Given the description of an element on the screen output the (x, y) to click on. 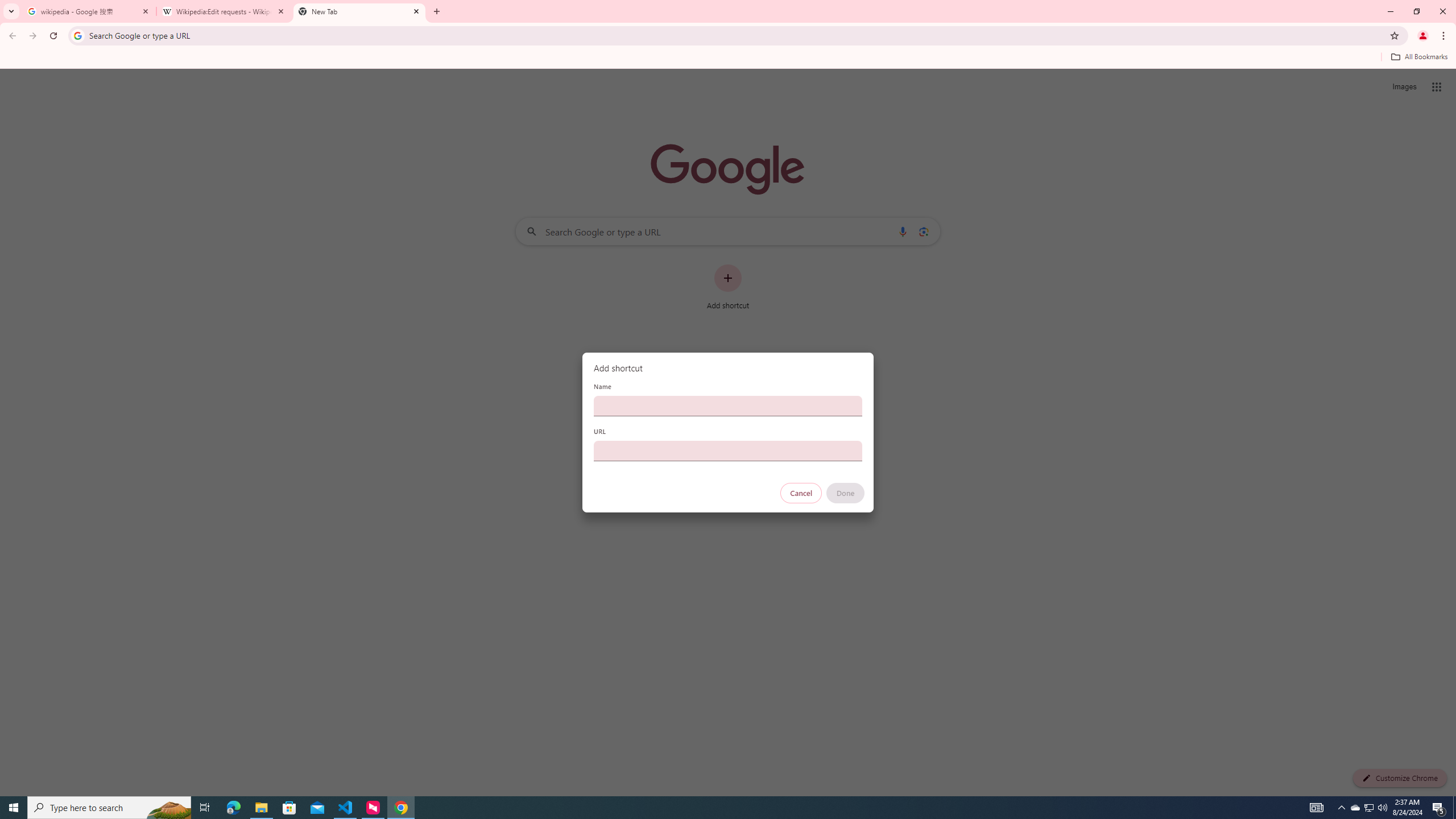
Done (845, 493)
New Tab (359, 11)
URL (727, 450)
